Given the description of an element on the screen output the (x, y) to click on. 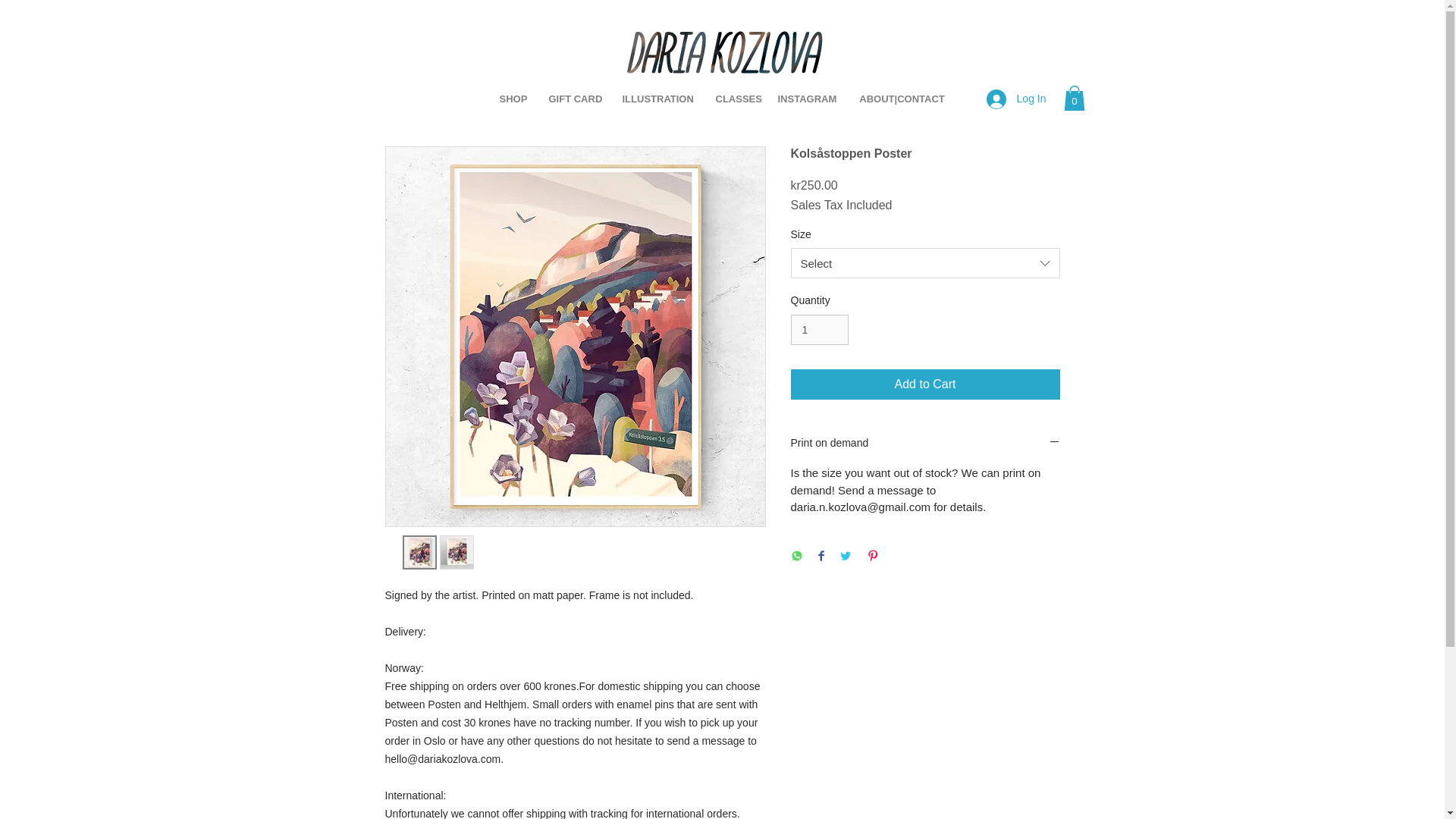
Add to Cart (924, 384)
CLASSES (734, 98)
Log In (1016, 99)
SHOP (512, 98)
1 (818, 329)
INSTAGRAM (806, 98)
ILLUSTRATION (657, 98)
Select (924, 263)
GIFT CARD (573, 98)
Print on demand (924, 443)
